Given the description of an element on the screen output the (x, y) to click on. 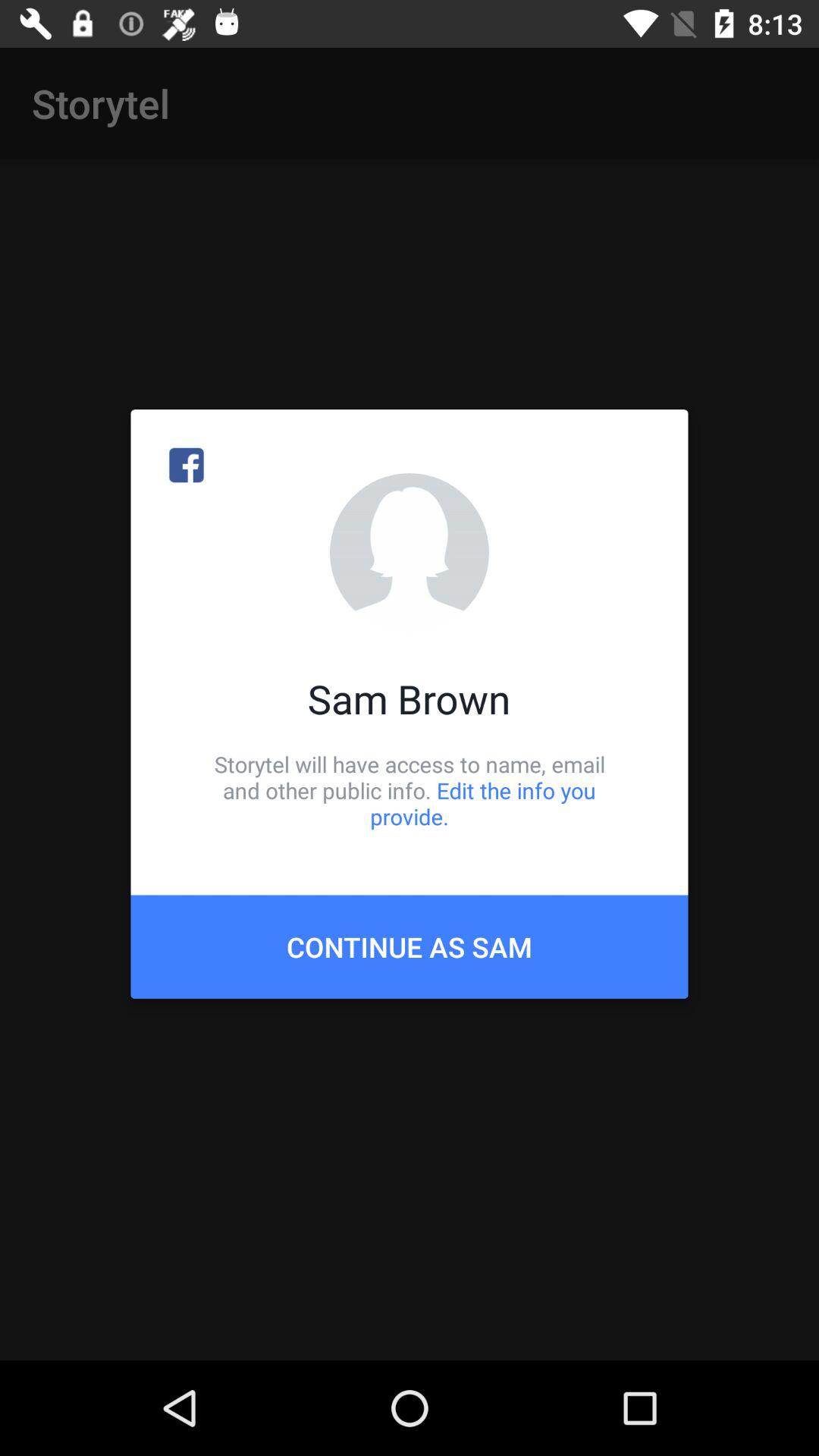
launch icon above the continue as sam item (409, 790)
